Given the description of an element on the screen output the (x, y) to click on. 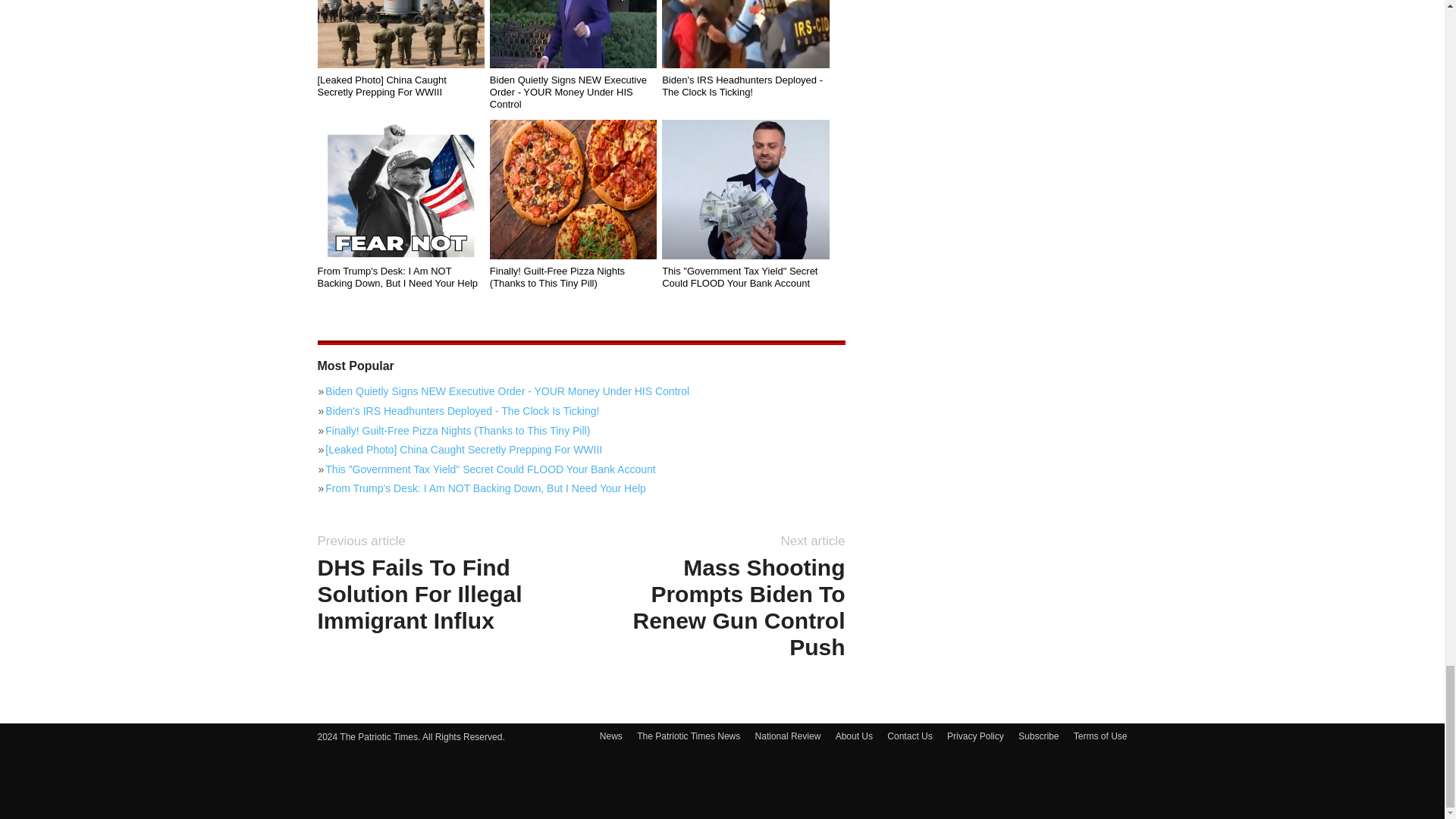
Biden's IRS Headhunters Deployed - The Clock Is Ticking! (745, 86)
Biden's IRS Headhunters Deployed - The Clock Is Ticking! (745, 33)
This  (745, 189)
